Given the description of an element on the screen output the (x, y) to click on. 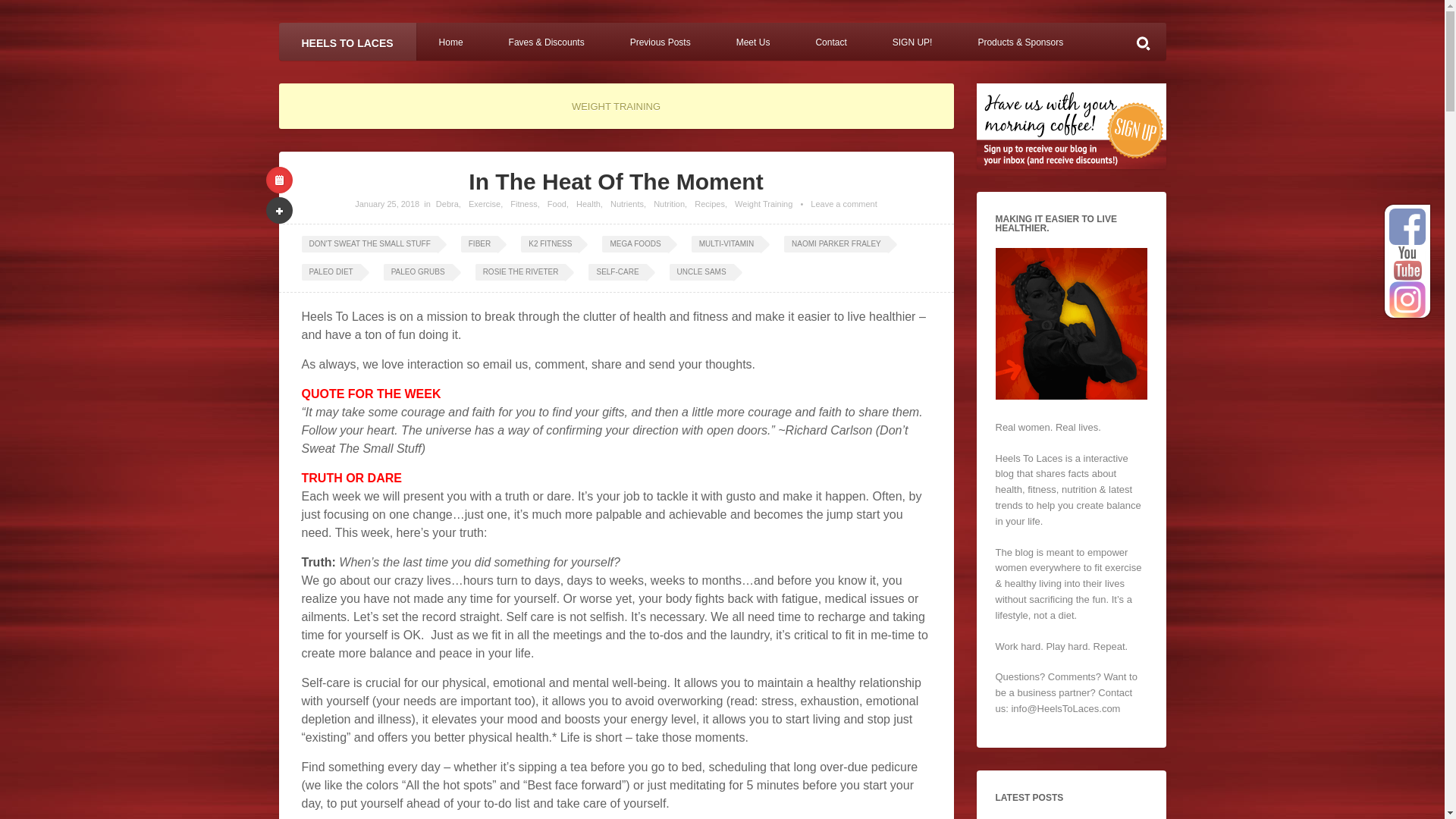
Recipes (709, 203)
PALEO GRUBS (418, 271)
Food (556, 203)
NAOMI PARKER FRALEY (836, 243)
Home (451, 41)
In The Heat Of The Moment (387, 203)
MEGA FOODS (635, 243)
Weight Training (763, 203)
Health (587, 203)
SELF-CARE (617, 271)
